Given the description of an element on the screen output the (x, y) to click on. 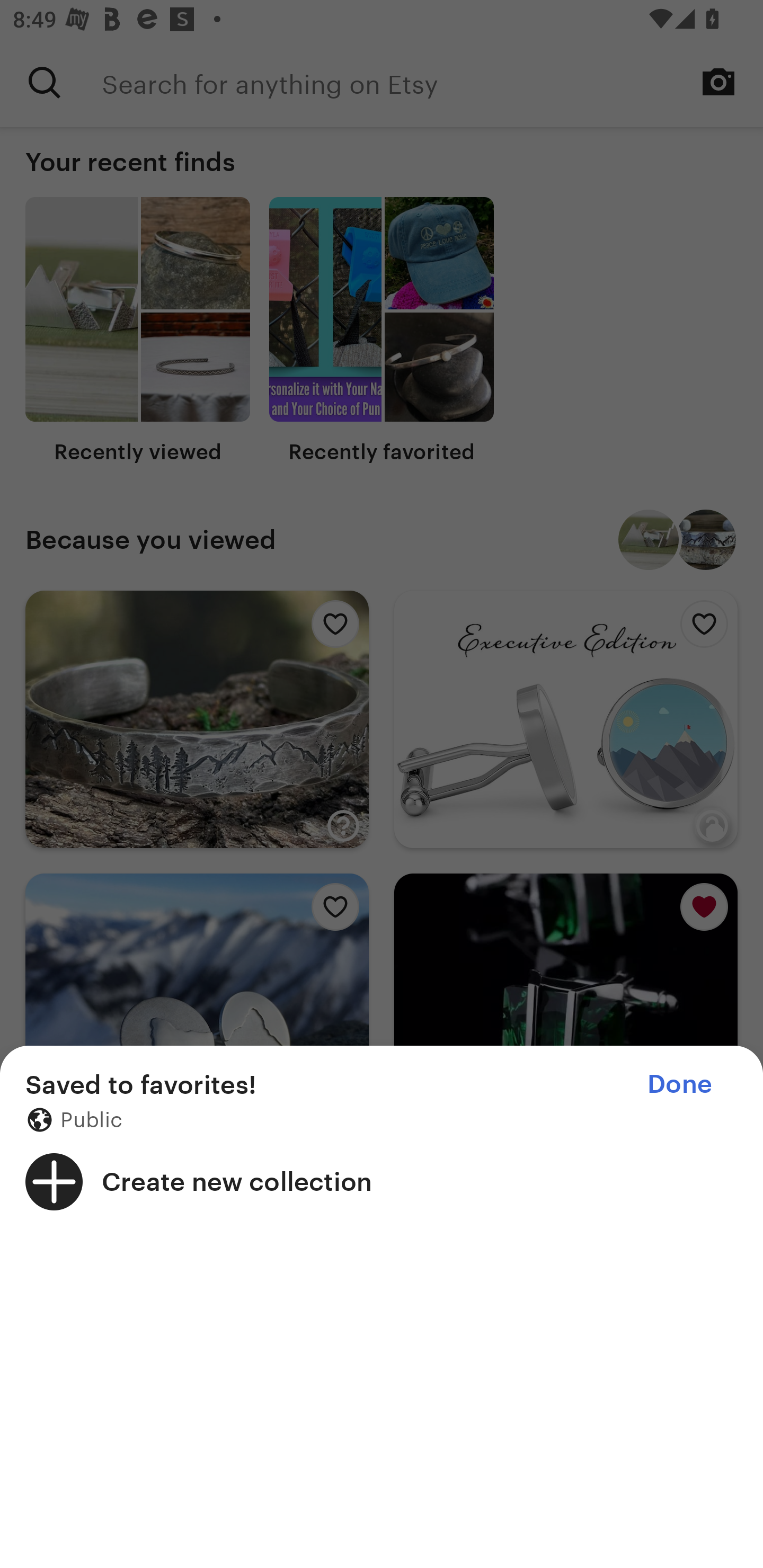
Done (679, 1083)
Create new collection (381, 1181)
